Given the description of an element on the screen output the (x, y) to click on. 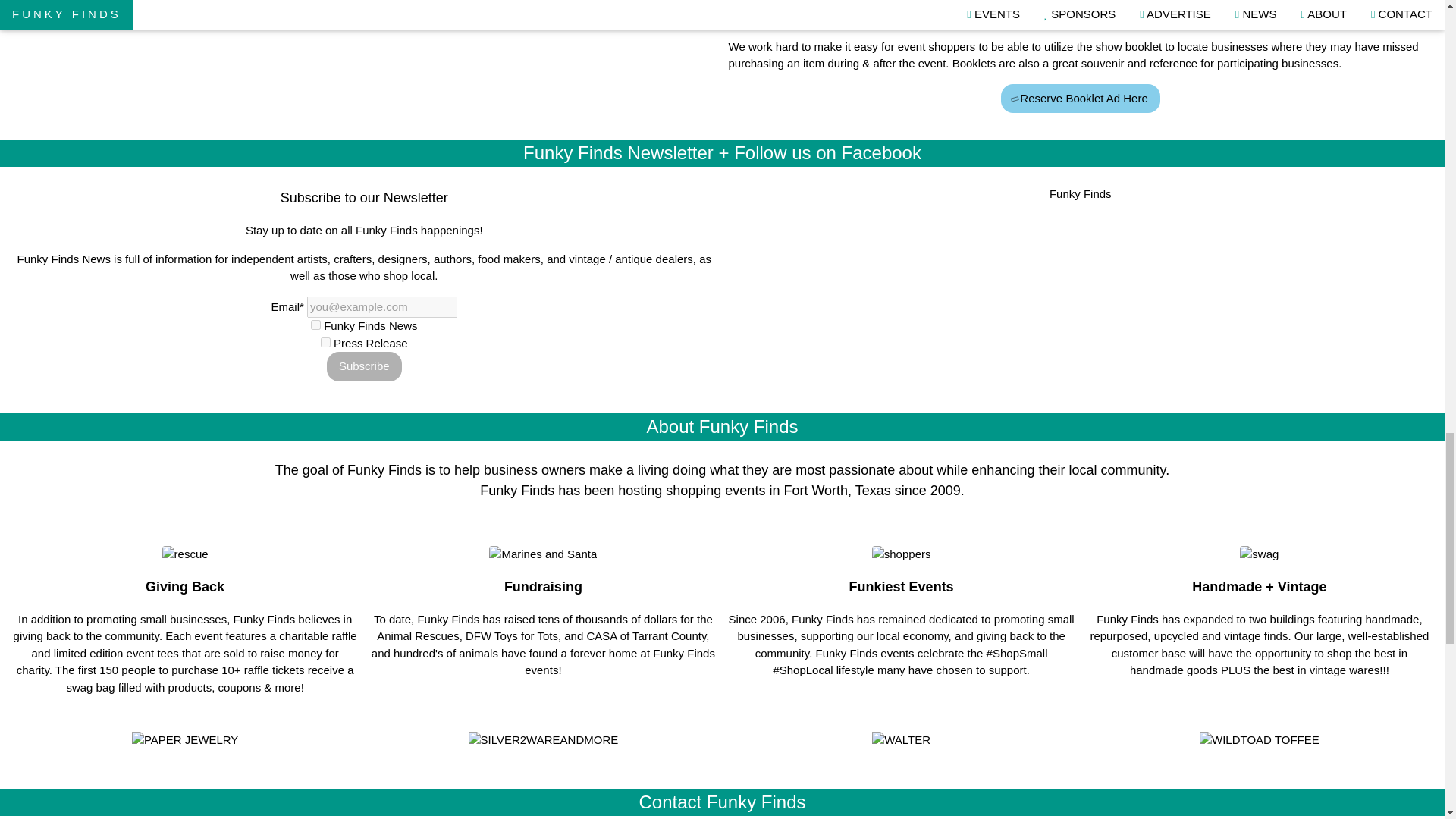
Reserve Booklet Ad Here (1080, 98)
7064987 (325, 342)
Funky Finds (1080, 193)
7064955 (315, 325)
Subscribe (363, 366)
Subscribe (363, 366)
